Given the description of an element on the screen output the (x, y) to click on. 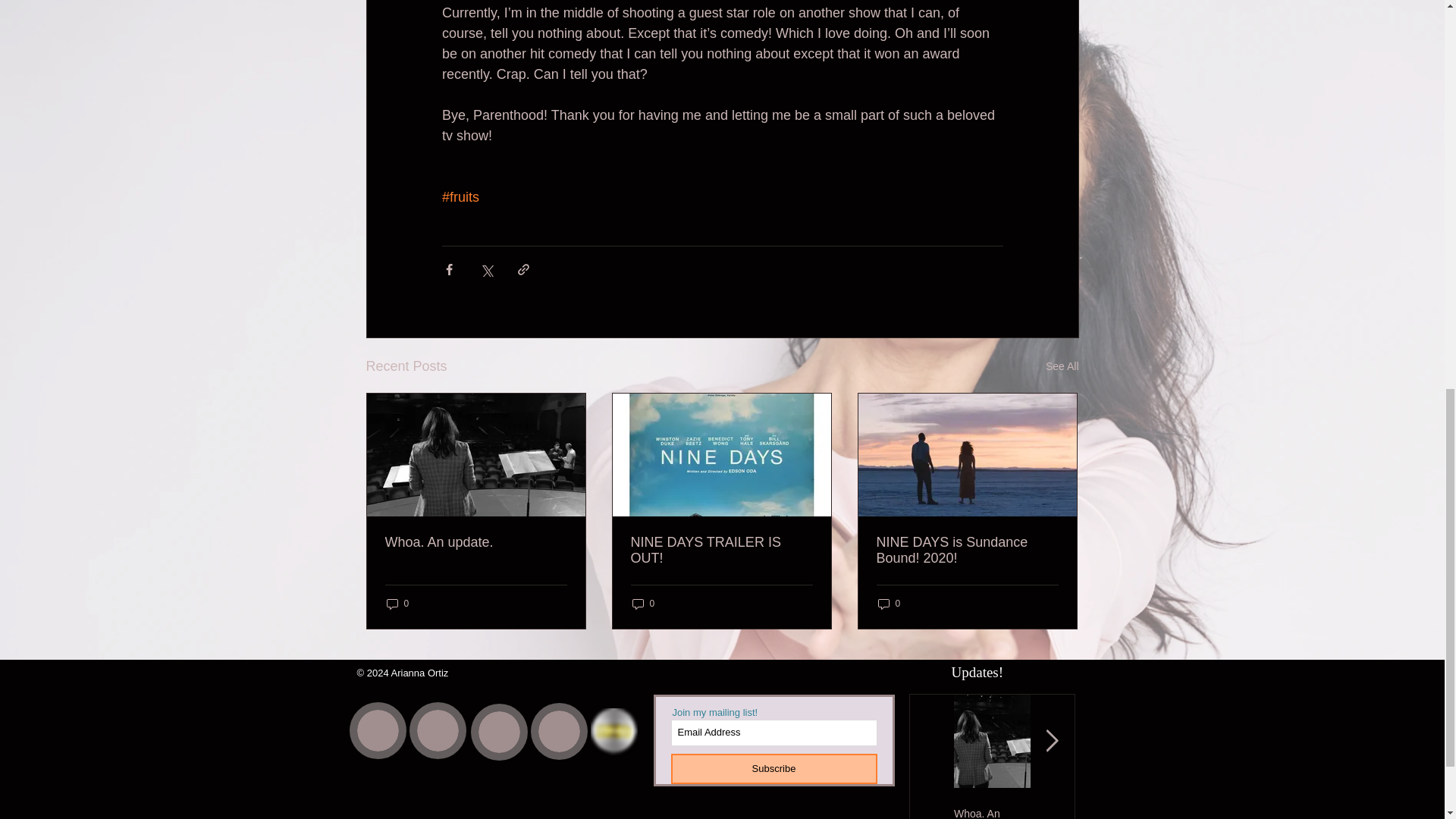
NINE DAYS TRAILER IS OUT! (721, 550)
Subscribe (772, 768)
0 (643, 603)
NINE DAYS TRAILER IS OUT! (1067, 813)
NINE DAYS is Sundance Bound! 2020! (967, 550)
Whoa. An update. (991, 813)
See All (1061, 366)
Whoa. An update. (476, 542)
0 (889, 603)
0 (397, 603)
